Given the description of an element on the screen output the (x, y) to click on. 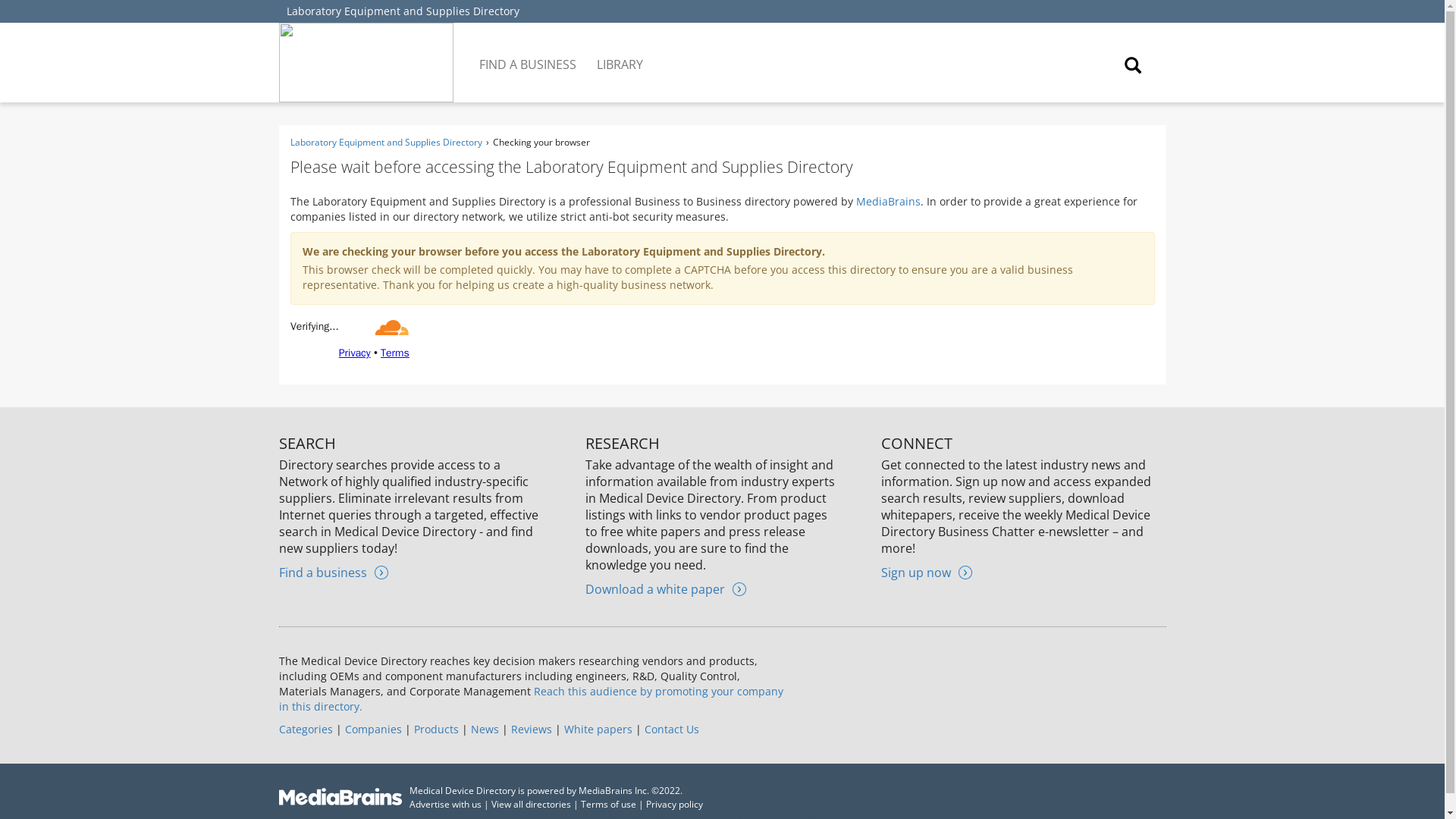
Products (435, 728)
FIND A BUSINESS (528, 52)
Categories (306, 728)
View all directories (531, 803)
Find a business (333, 572)
Companies (372, 728)
MediaBrains (888, 201)
Advertise with us (445, 803)
Laboratory Equipment and Supplies Directory (403, 11)
White papers (597, 728)
Laboratory Equipment and Supplies Directory (385, 141)
Reviews (531, 728)
Download a white paper (665, 588)
Privacy policy (674, 803)
